Given the description of an element on the screen output the (x, y) to click on. 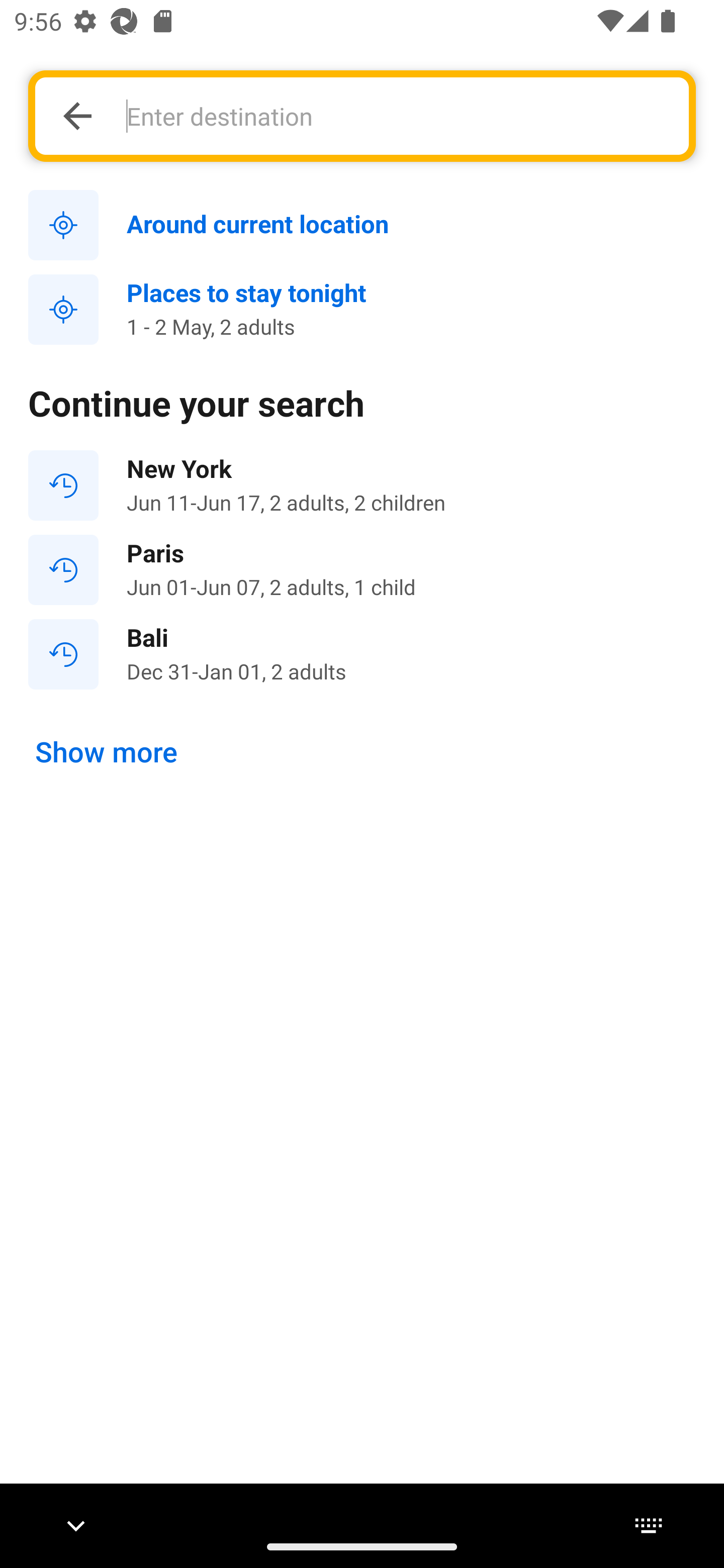
Enter destination (396, 115)
Around current location (362, 225)
Places to stay tonight 1 - 2 May, 2 adults (362, 309)
New York Jun 11-Jun 17, 2 adults, 2 children (362, 485)
Paris Jun 01-Jun 07, 2 adults, 1 child (362, 569)
Bali Dec 31-Jan 01, 2 adults  (362, 653)
Show more (106, 752)
